Given the description of an element on the screen output the (x, y) to click on. 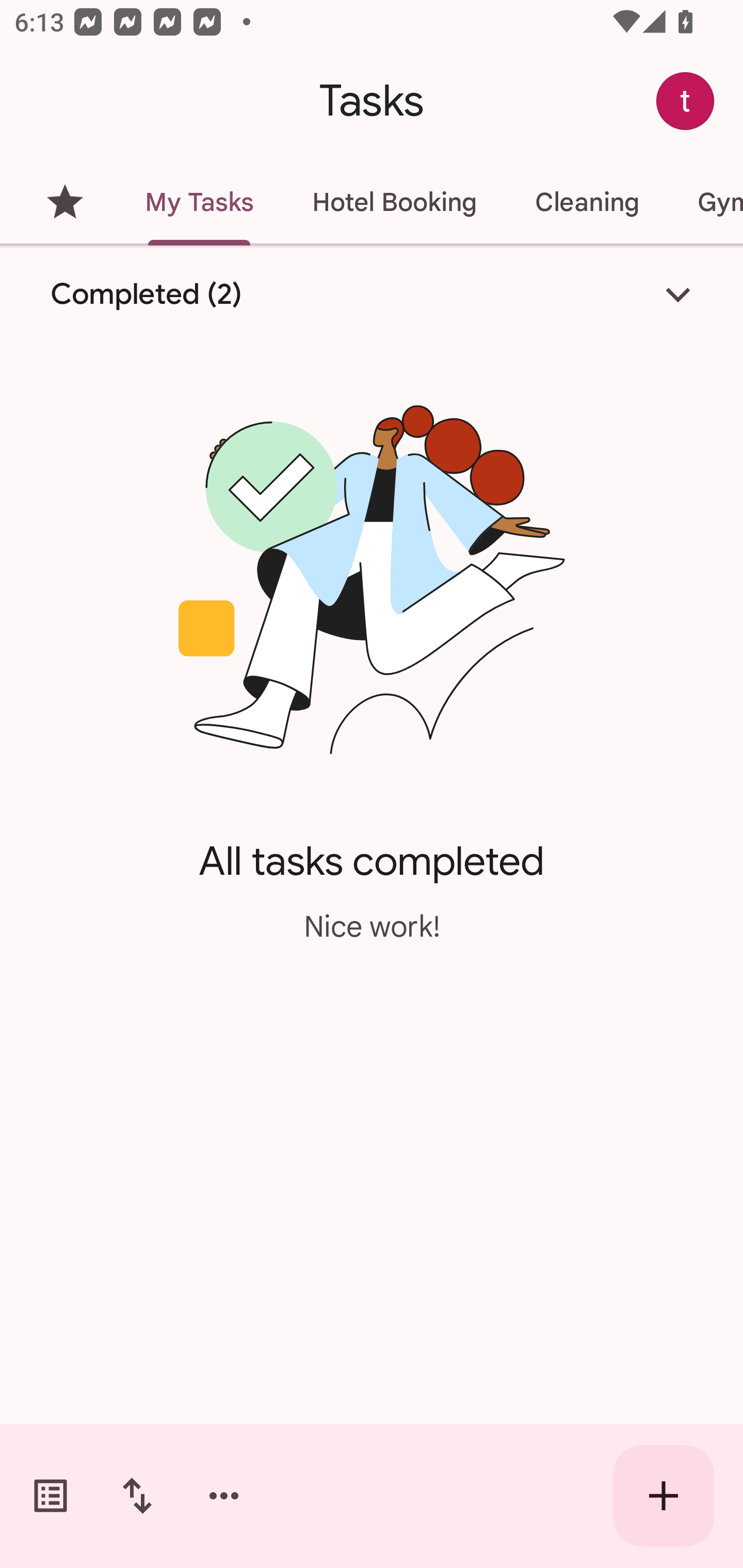
Starred (64, 202)
Hotel Booking (394, 202)
Cleaning (586, 202)
Completed (2) (371, 294)
Switch task lists (50, 1495)
Create new task (663, 1495)
Change sort order (136, 1495)
More options (223, 1495)
